Given the description of an element on the screen output the (x, y) to click on. 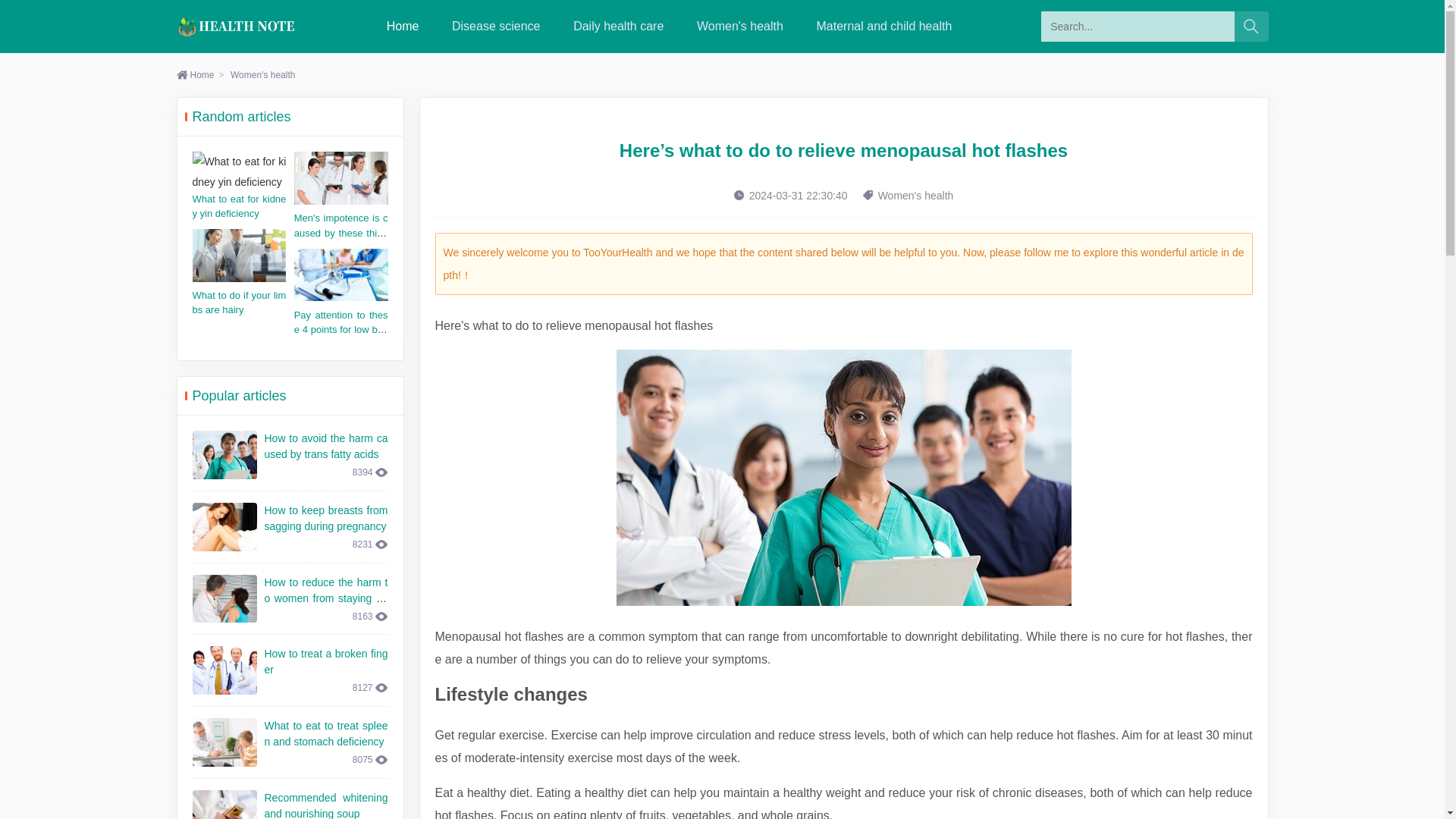
How to avoid the harm caused by trans fatty acids (325, 446)
Disease science (495, 26)
What to eat for kidney yin deficiency (239, 206)
Men's impotence is caused by these things (341, 232)
Maternal and child health (884, 26)
Too-yourhealth Home (403, 26)
Women's health (740, 26)
Home (403, 26)
Disease science (495, 26)
Daily health care (618, 26)
What to do if your limbs are hairy (239, 302)
Too Yourhealth (236, 26)
Women's health (262, 74)
Too Yourhealth (236, 26)
